Given the description of an element on the screen output the (x, y) to click on. 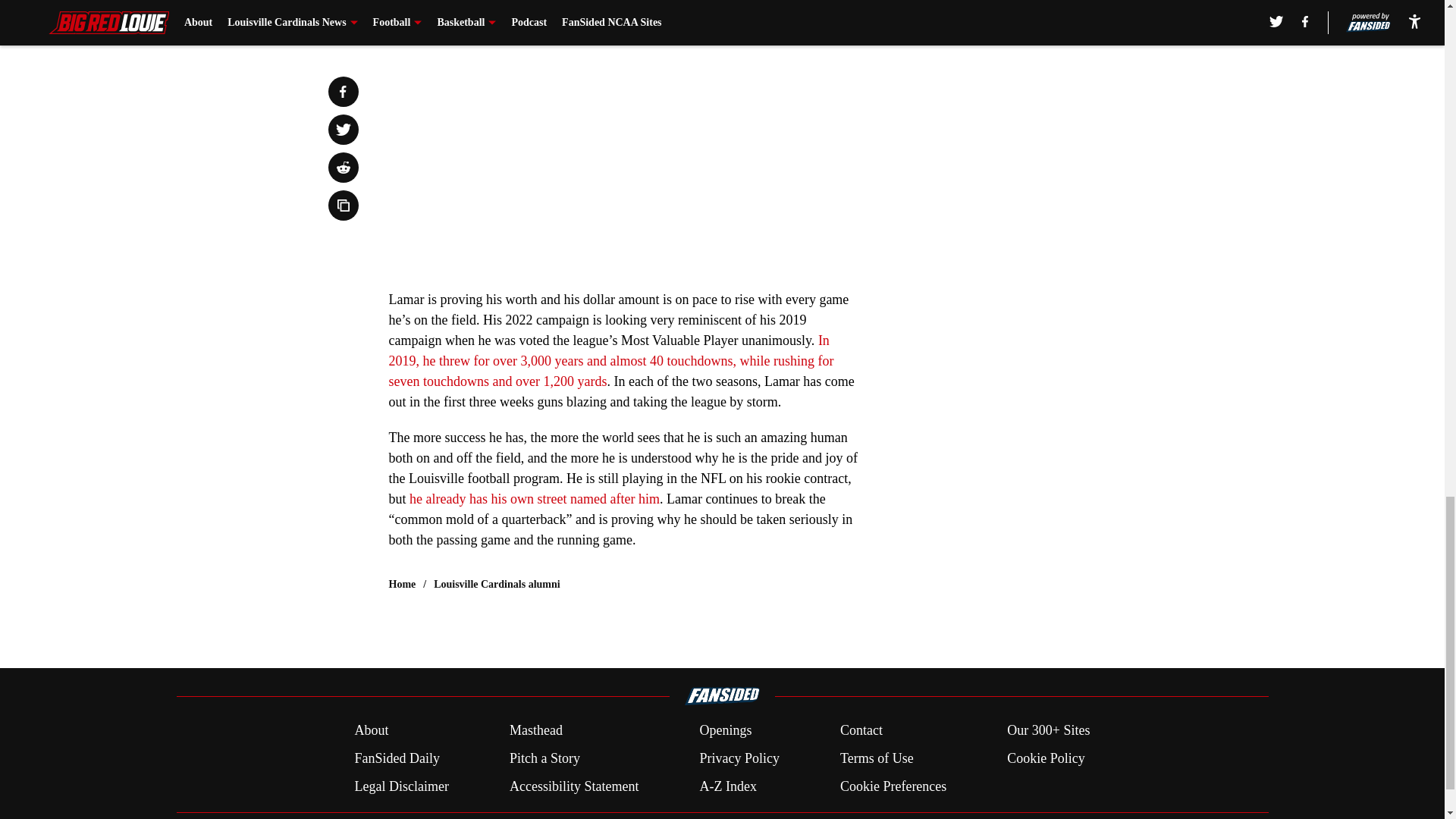
Pitch a Story (544, 758)
Privacy Policy (738, 758)
Terms of Use (877, 758)
Contact (861, 730)
Louisville Cardinals alumni (496, 584)
FanSided Daily (396, 758)
he already has his own street named after him (534, 498)
About (370, 730)
Openings (724, 730)
Home (401, 584)
Masthead (535, 730)
